Given the description of an element on the screen output the (x, y) to click on. 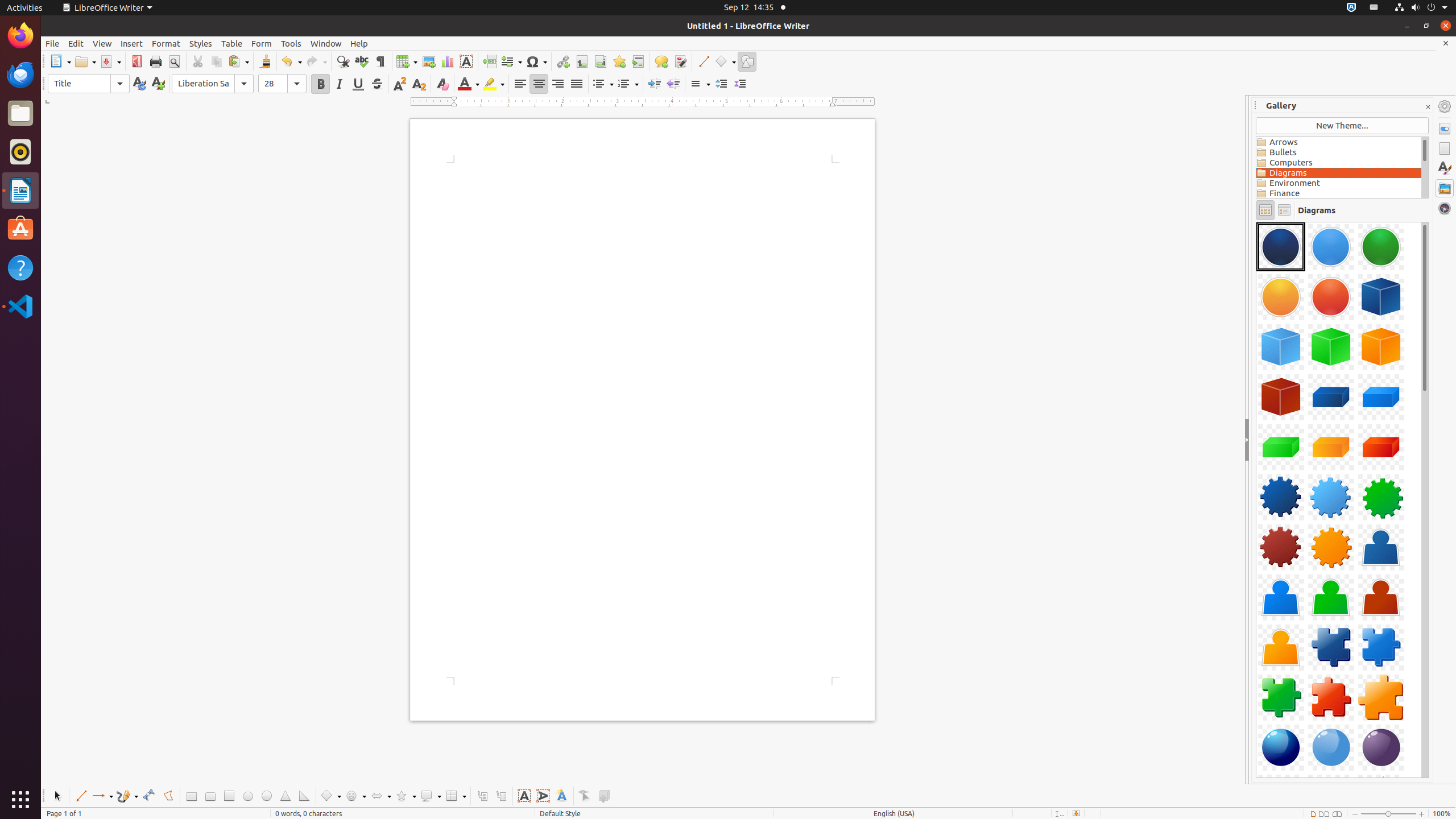
Vertical Text Element type: toggle-button (542, 795)
Help Element type: push-button (20, 267)
Curves and Polygons Element type: push-button (126, 795)
Format Element type: menu (165, 43)
Polygon Element type: push-button (167, 795)
